Given the description of an element on the screen output the (x, y) to click on. 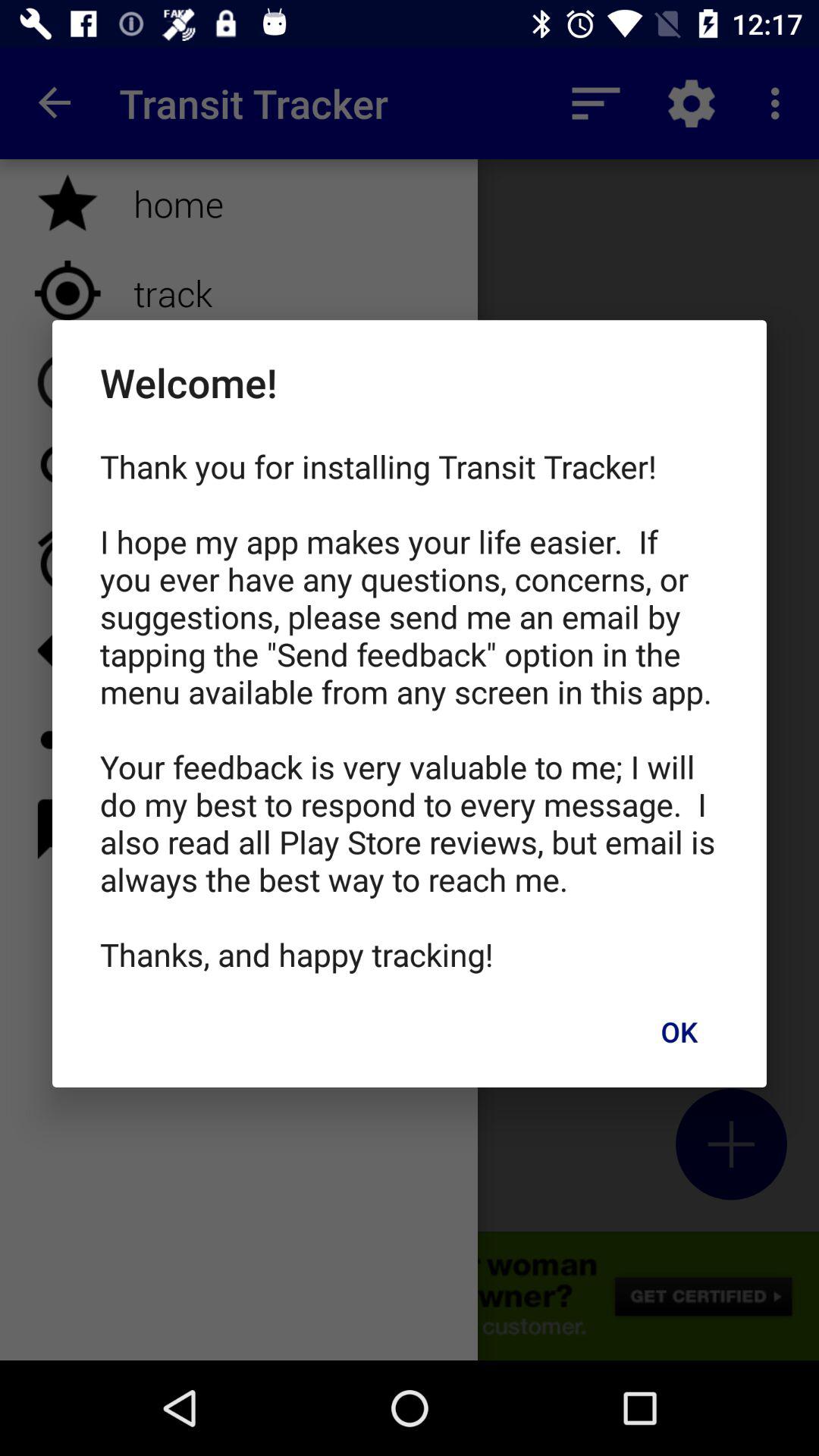
select item at the bottom right corner (678, 1031)
